Given the description of an element on the screen output the (x, y) to click on. 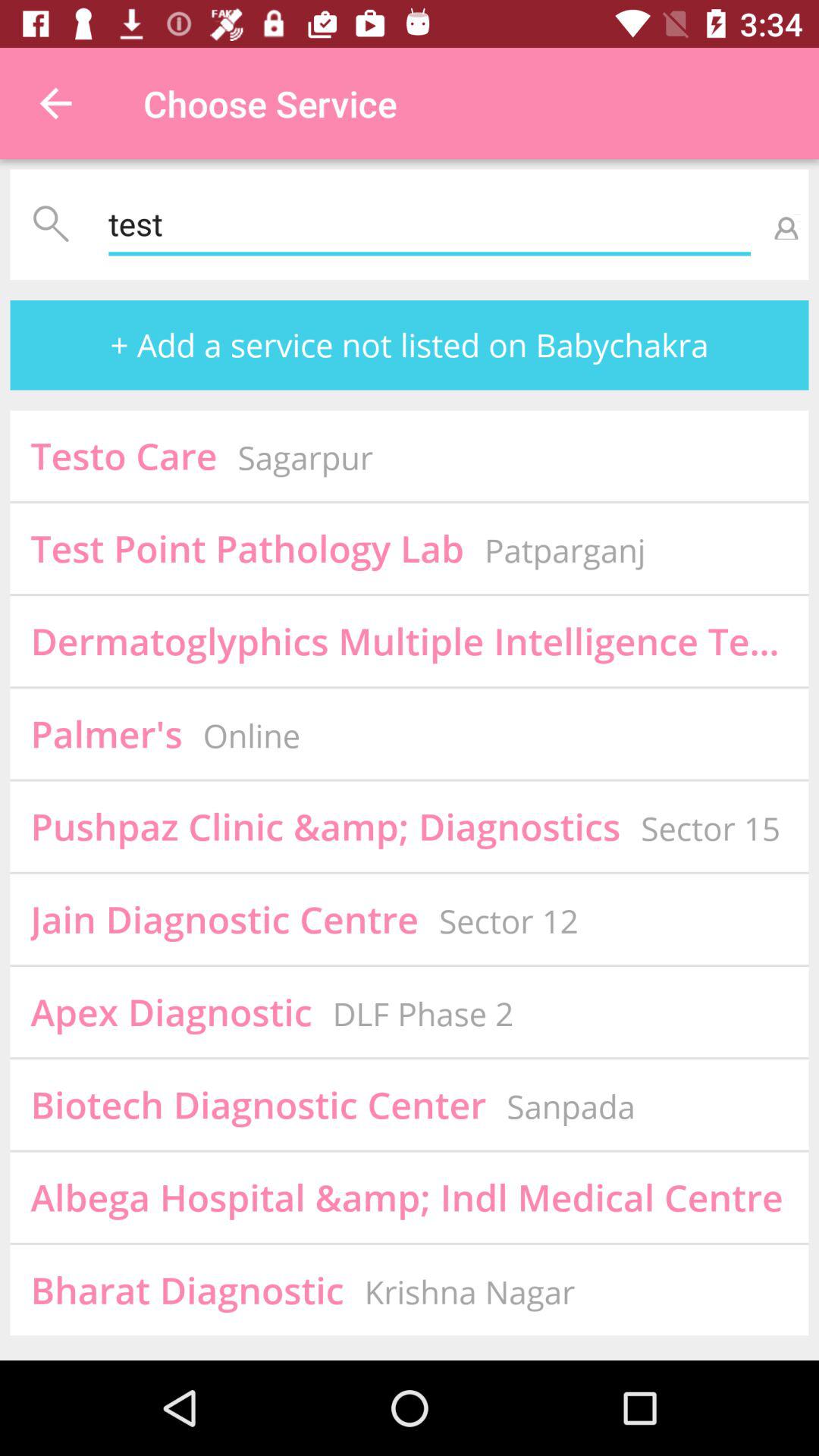
open icon to the right of jain diagnostic centre (508, 920)
